Given the description of an element on the screen output the (x, y) to click on. 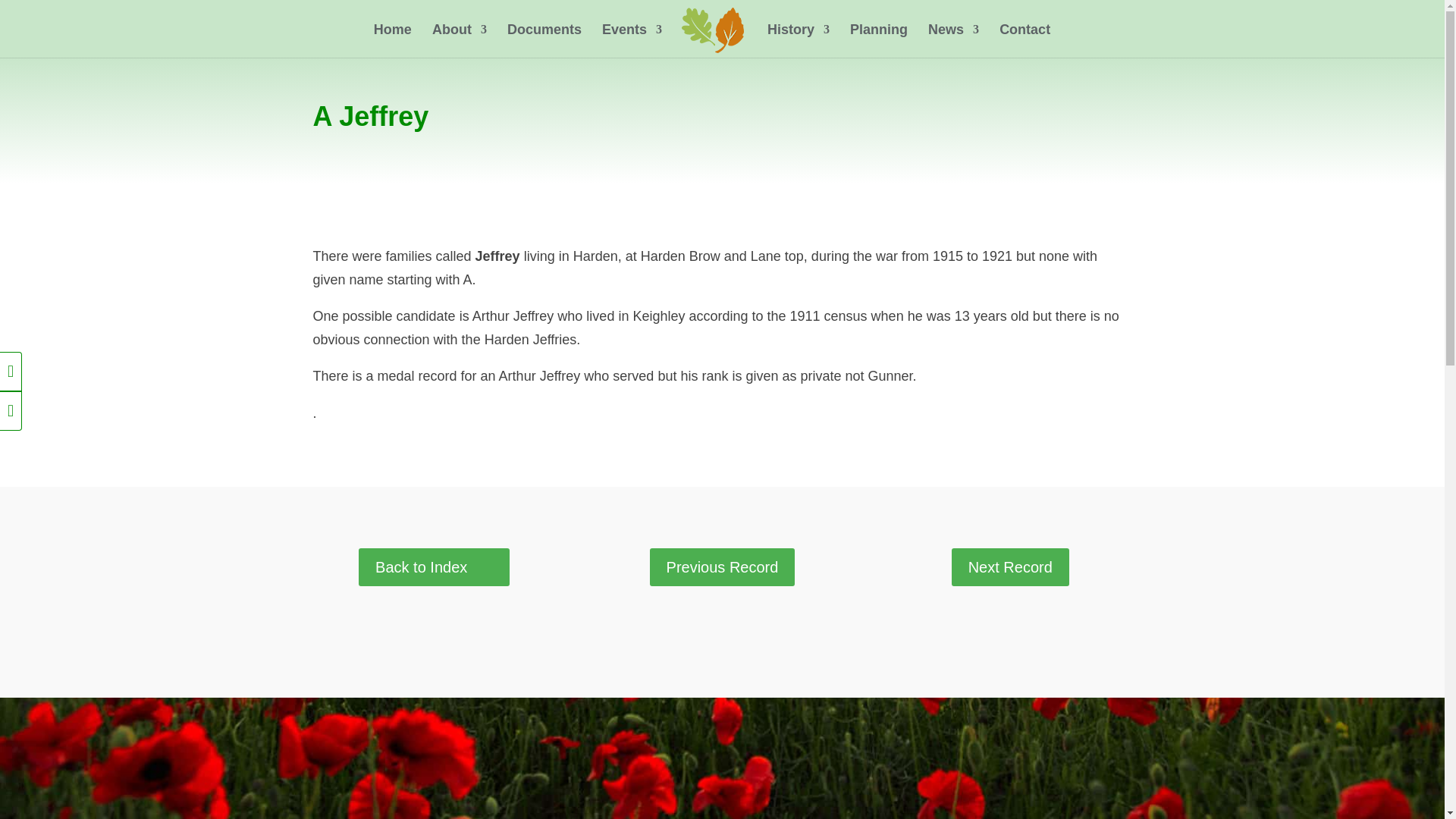
About (459, 40)
News (953, 40)
Home (393, 40)
History (798, 40)
Documents (543, 40)
Events (632, 40)
Planning (878, 40)
Contact (1023, 40)
